Given the description of an element on the screen output the (x, y) to click on. 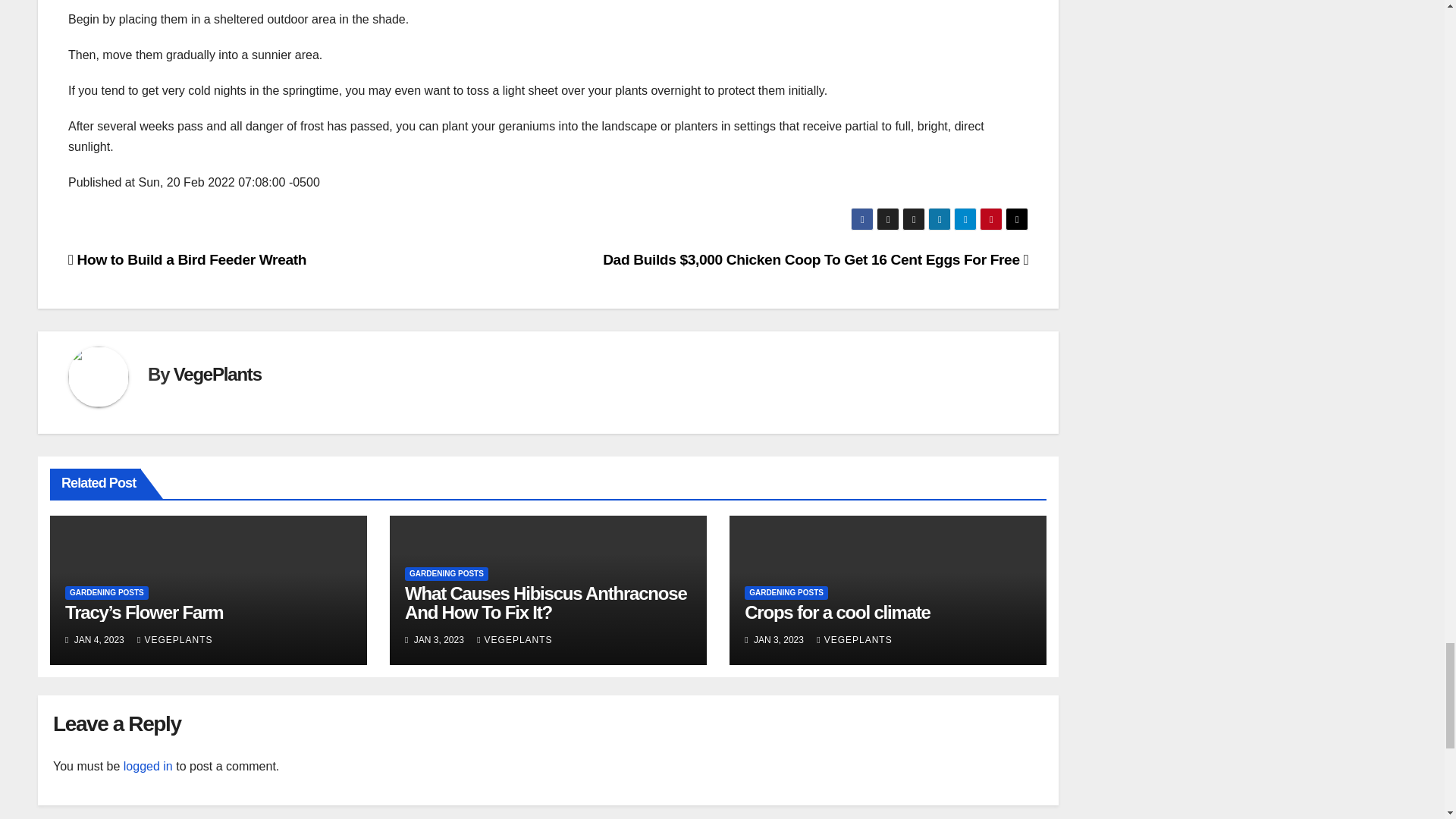
VEGEPLANTS (853, 639)
Permalink to: Crops for a cool climate (837, 611)
GARDENING POSTS (445, 573)
GARDENING POSTS (786, 592)
GARDENING POSTS (106, 592)
VEGEPLANTS (174, 639)
VEGEPLANTS (514, 639)
logged in (148, 766)
VegePlants (217, 373)
How to Build a Bird Feeder Wreath (186, 259)
Crops for a cool climate (837, 611)
What Causes Hibiscus Anthracnose And How To Fix It? (544, 602)
